Given the description of an element on the screen output the (x, y) to click on. 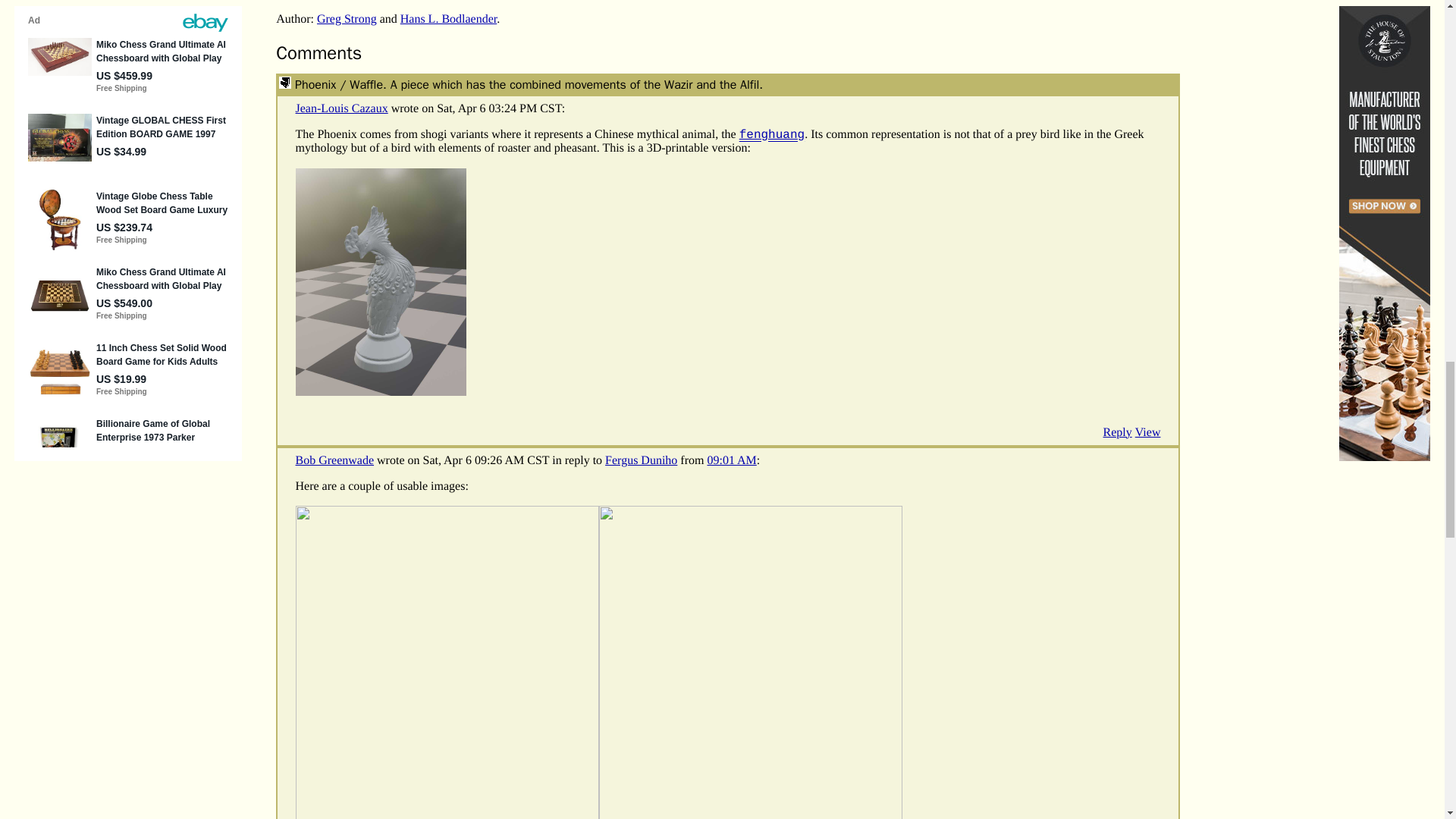
Jean-Louis Cazaux (341, 108)
Greg Strong (347, 19)
Bob Greenwade (334, 460)
Fergus Duniho (641, 460)
09:01 AM (730, 460)
Hans L. Bodlaender (448, 19)
View (1147, 432)
fenghuang (772, 134)
Reply (1117, 432)
